Given the description of an element on the screen output the (x, y) to click on. 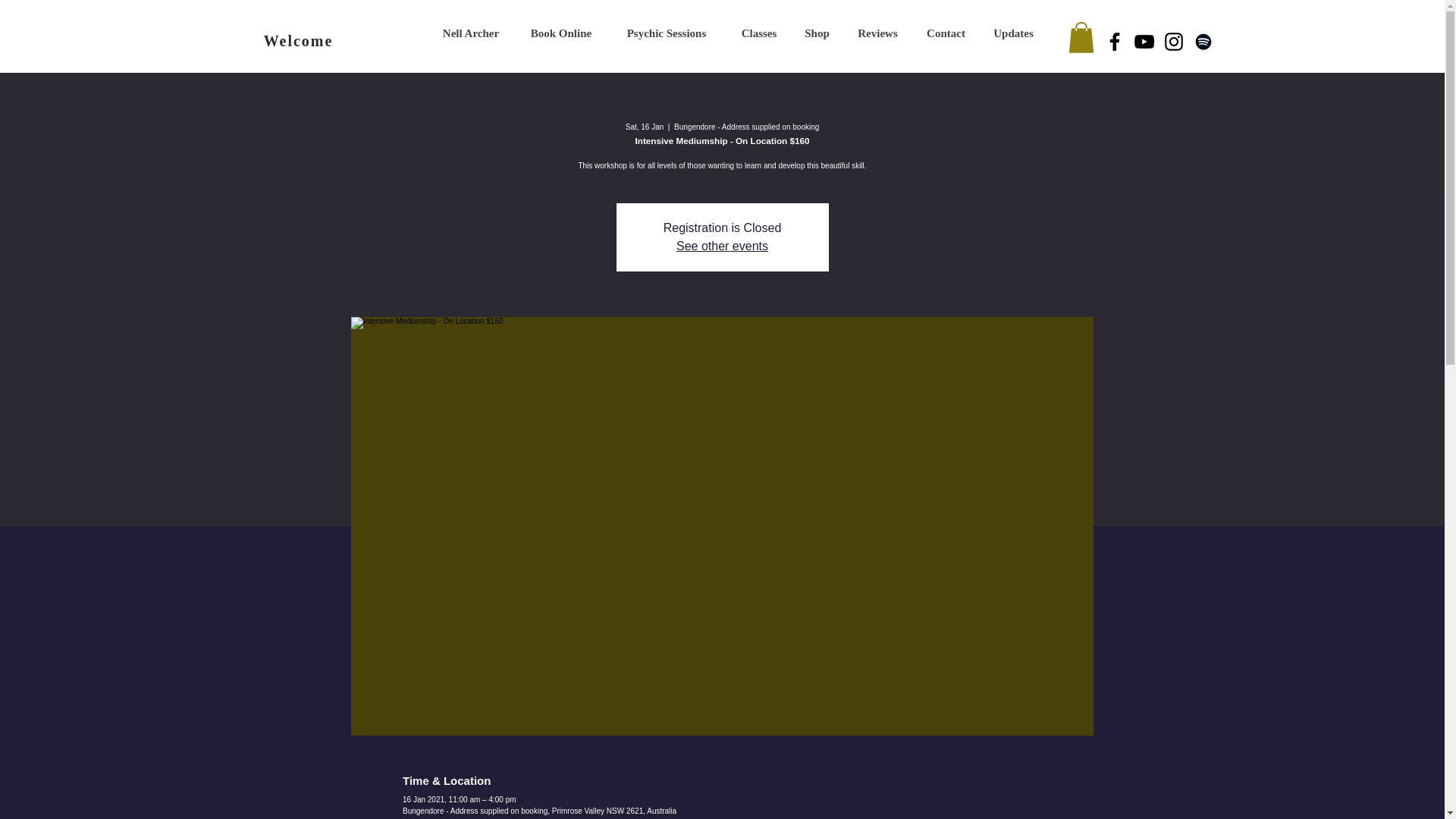
See other events (722, 245)
Updates (1012, 33)
Shop (817, 33)
Psychic Sessions (666, 33)
Contact (945, 33)
Classes (759, 33)
Nell Archer (470, 33)
Book Online (561, 33)
Welcome (298, 40)
Reviews (876, 33)
